Given the description of an element on the screen output the (x, y) to click on. 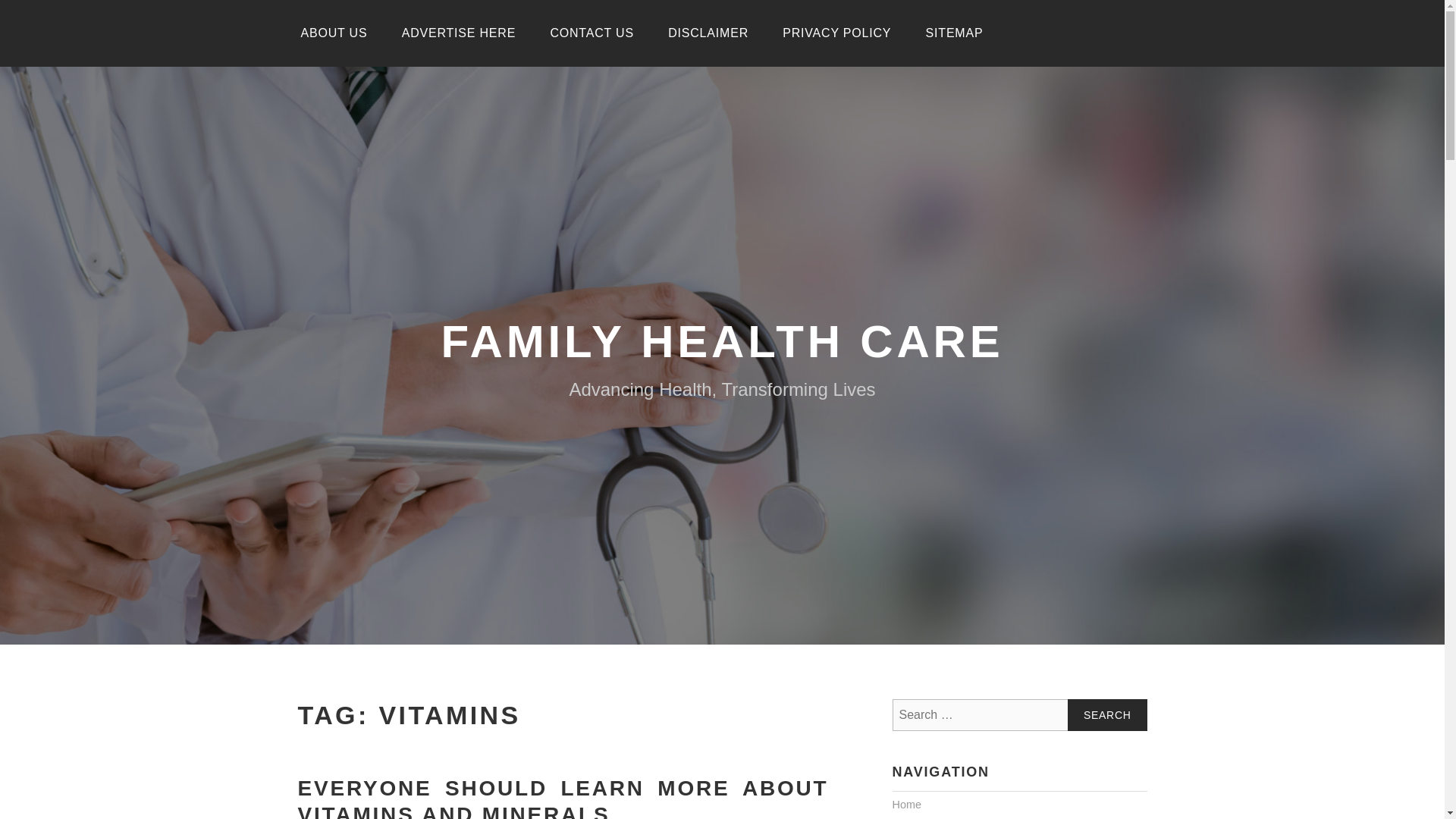
CONTACT US (591, 33)
PRIVACY POLICY (836, 33)
DISCLAIMER (707, 33)
SITEMAP (954, 33)
Home (905, 805)
Search (1107, 715)
FAMILY HEALTH CARE (722, 341)
ABOUT US (333, 33)
EVERYONE SHOULD LEARN MORE ABOUT VITAMINS AND MINERALS (562, 797)
Search (1107, 715)
ADVERTISE HERE (459, 33)
Search (1107, 715)
